Given the description of an element on the screen output the (x, y) to click on. 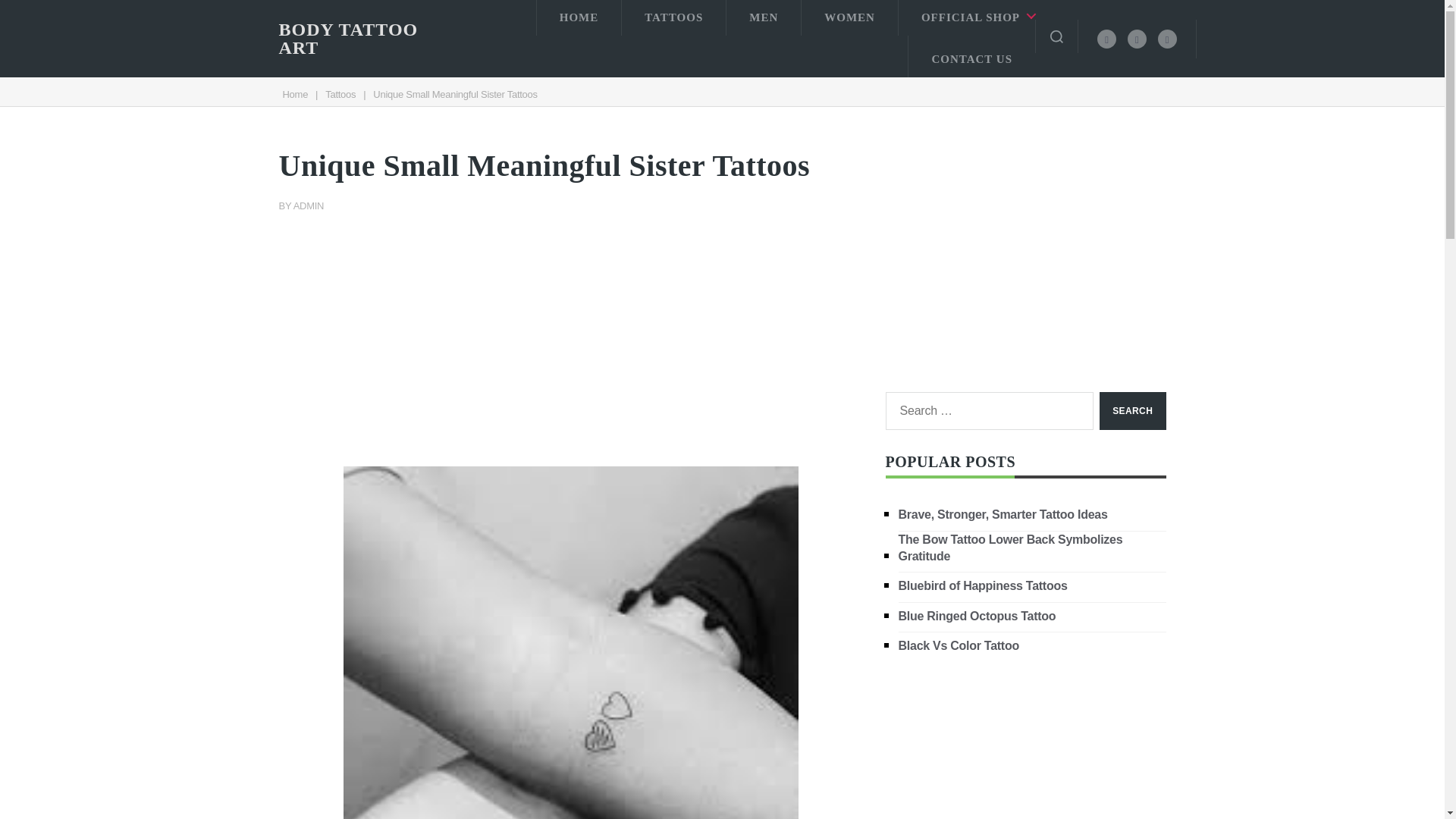
Search (1132, 410)
Posts by Mark Hughman (309, 205)
ADMIN (309, 205)
HOME (579, 18)
CONTACT US (971, 56)
Home (294, 93)
Advertisement (571, 329)
TATTOOS (673, 18)
WOMEN (850, 18)
Search (1132, 410)
Facebook (1106, 37)
Tattoos (339, 93)
Google Plus G (1166, 37)
OFFICIAL SHOP (966, 18)
Advertisement (1025, 245)
